Given the description of an element on the screen output the (x, y) to click on. 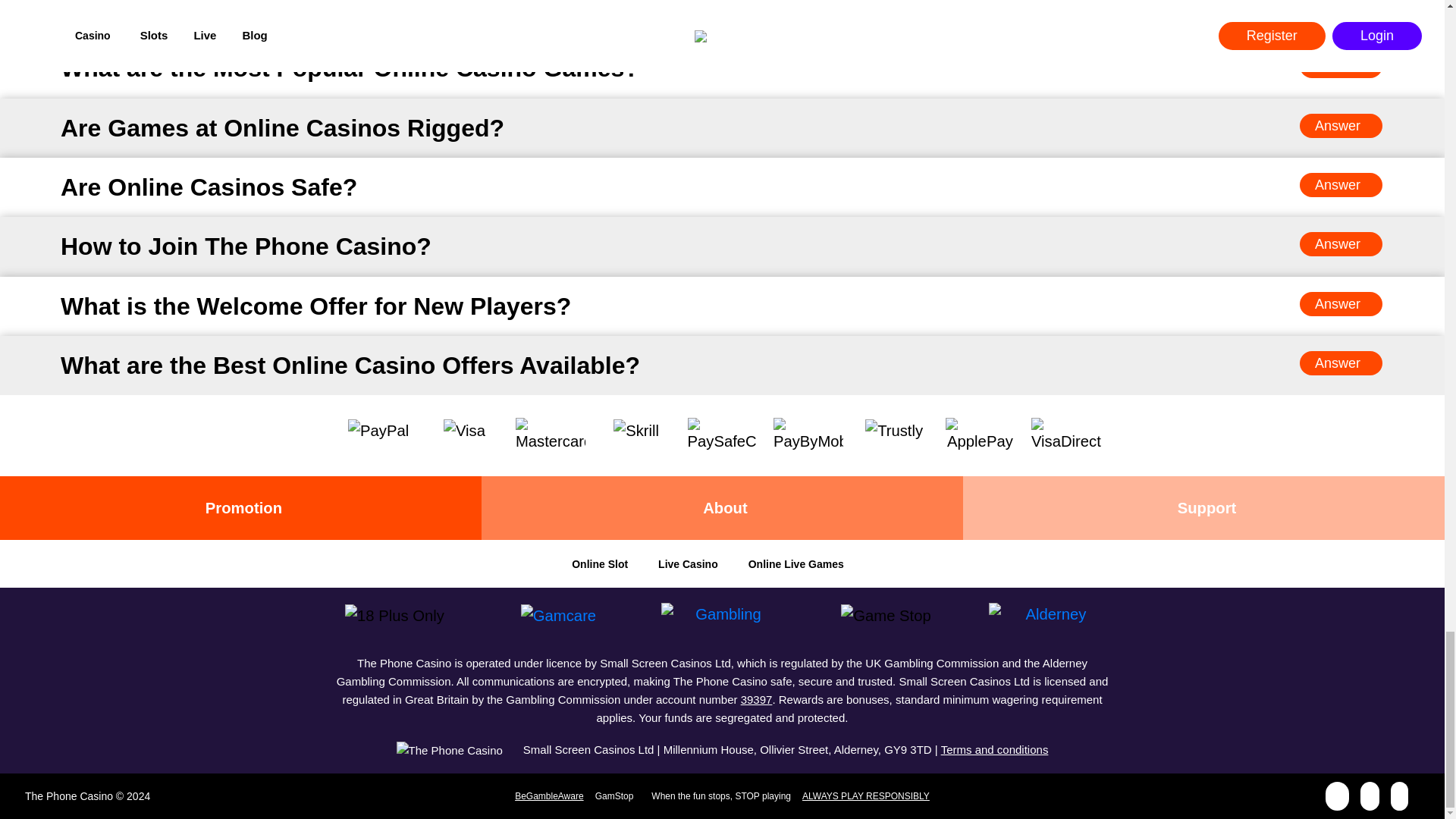
PaySafeCard (722, 434)
Skrill (635, 430)
PayByMobile (808, 434)
Trustly (893, 430)
ApplePay (979, 434)
Mastercard (550, 434)
Visa (464, 430)
PayPal (378, 430)
